Given the description of an element on the screen output the (x, y) to click on. 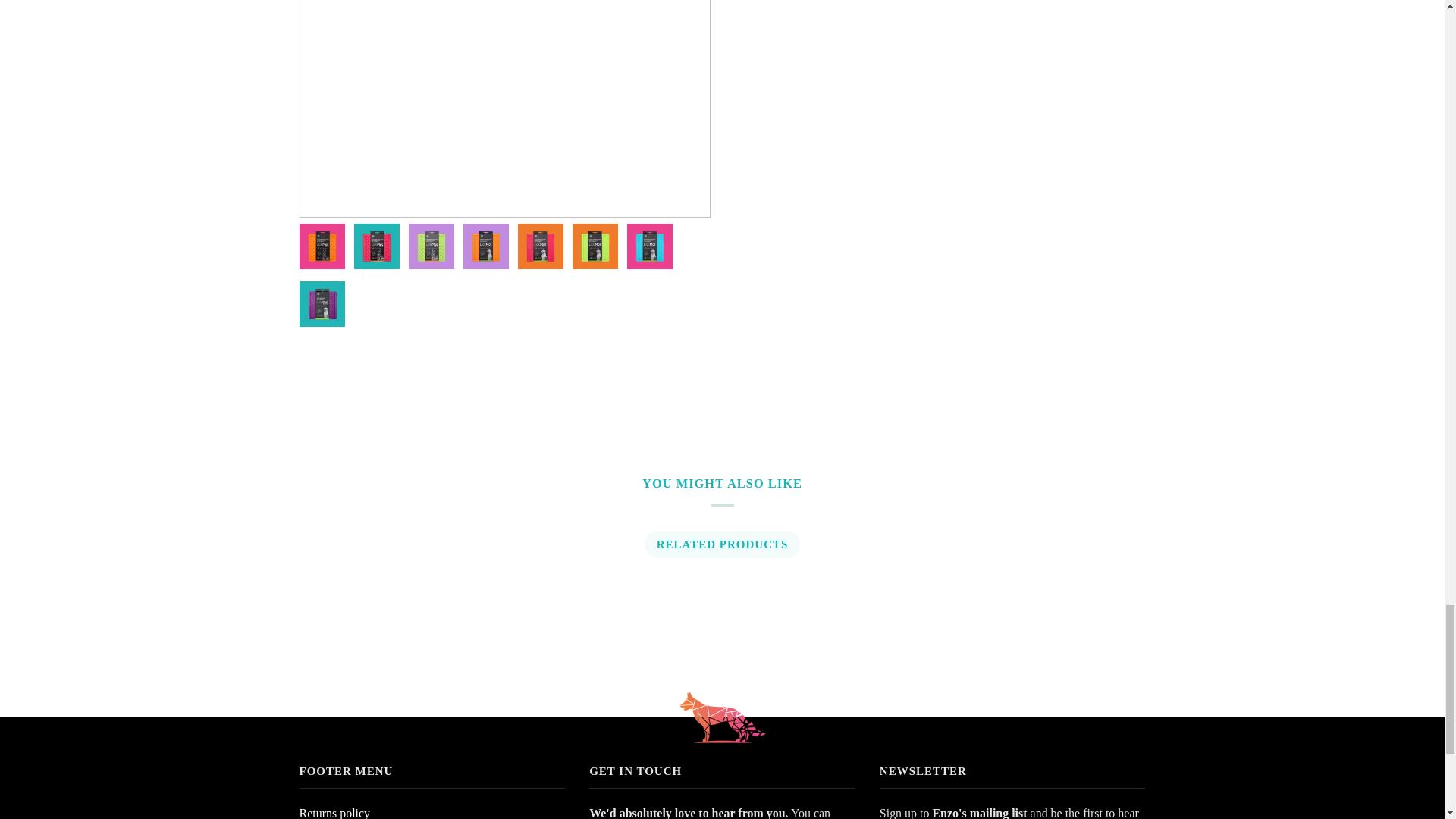
RELATED PRODUCTS (721, 543)
